Given the description of an element on the screen output the (x, y) to click on. 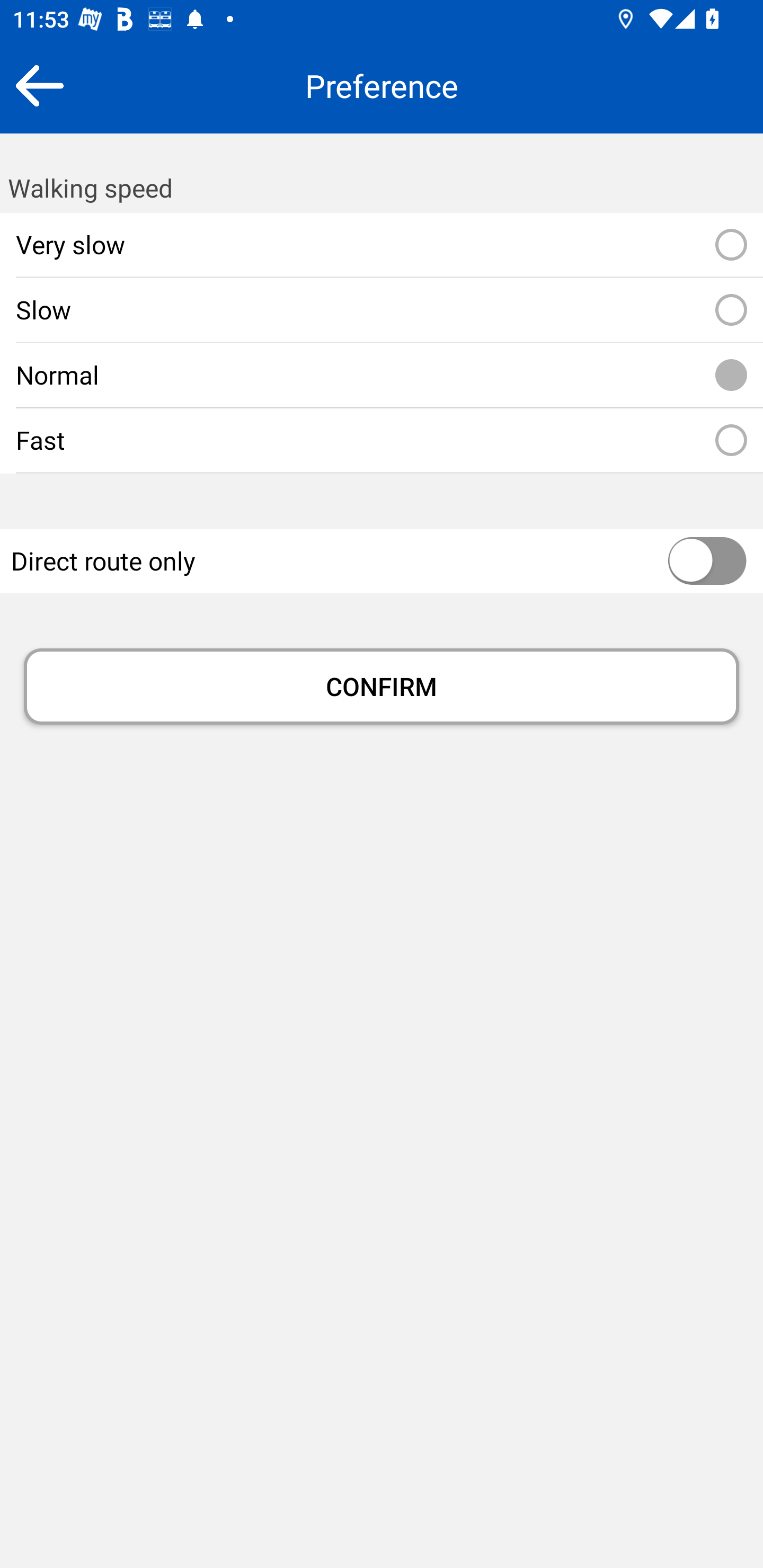
Back (39, 85)
Very slow (730, 244)
Slow (730, 310)
Normal (730, 374)
Fast (730, 440)
Direct route only (668, 560)
CONFIRM (381, 686)
